Given the description of an element on the screen output the (x, y) to click on. 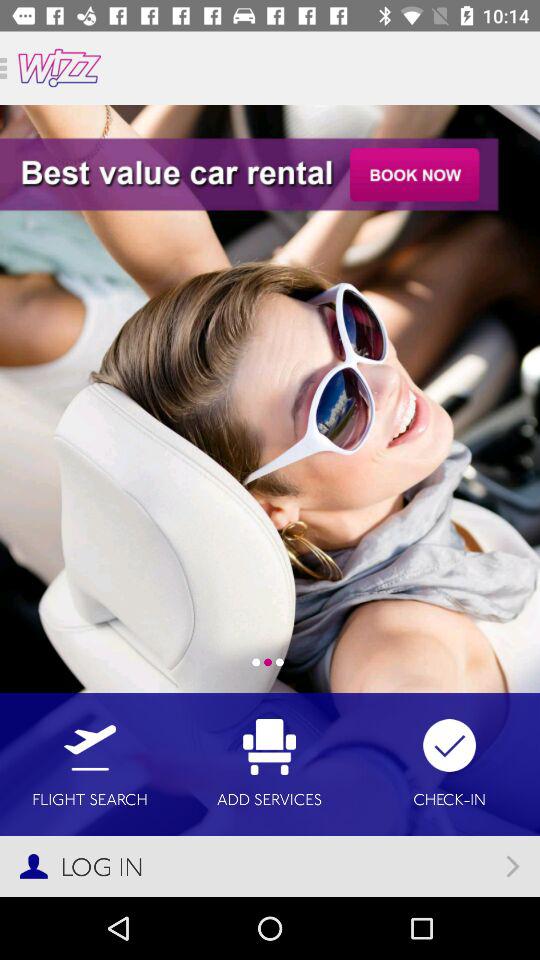
jump to the flight search icon (90, 764)
